Given the description of an element on the screen output the (x, y) to click on. 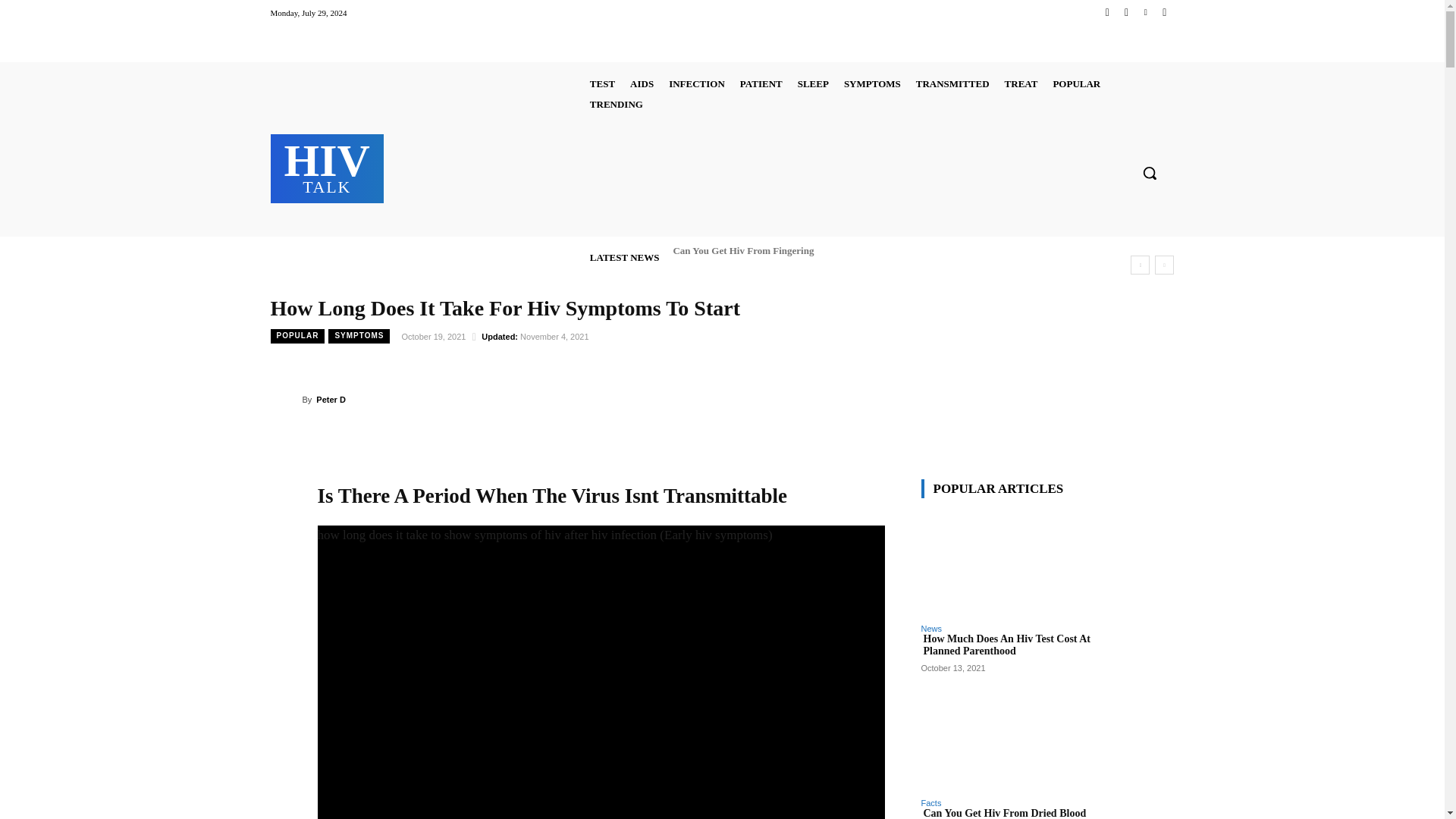
Facebook (1106, 12)
